Given the description of an element on the screen output the (x, y) to click on. 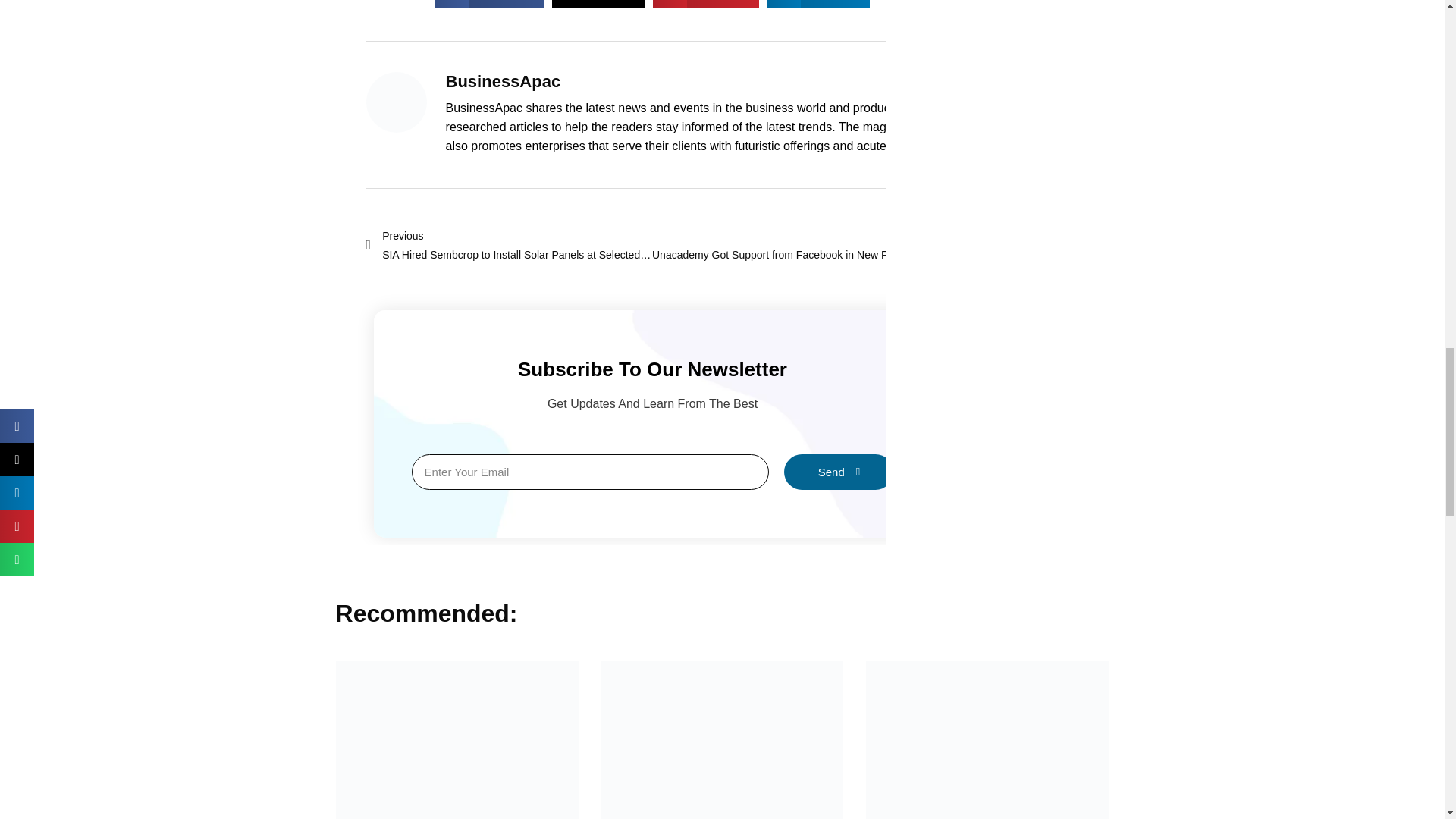
Send (705, 4)
